Given the description of an element on the screen output the (x, y) to click on. 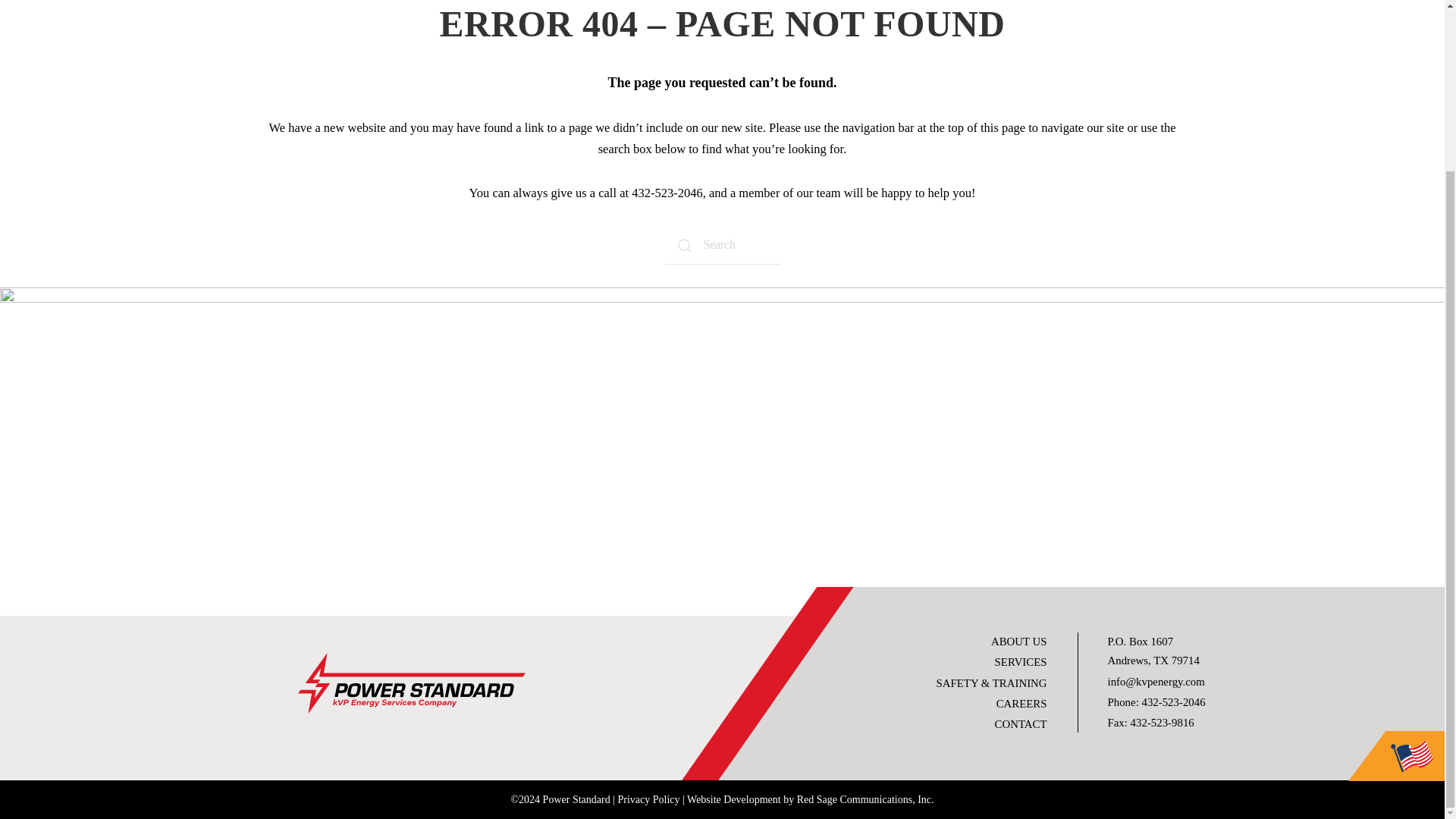
432-523-2046 (667, 192)
CONTACT (1020, 724)
Red Sage Communications, Inc. (865, 799)
Privacy Policy (648, 799)
CAREERS (1020, 703)
ABOUT US (1018, 641)
SERVICES (1020, 662)
432-523-2046 (1173, 702)
